Given the description of an element on the screen output the (x, y) to click on. 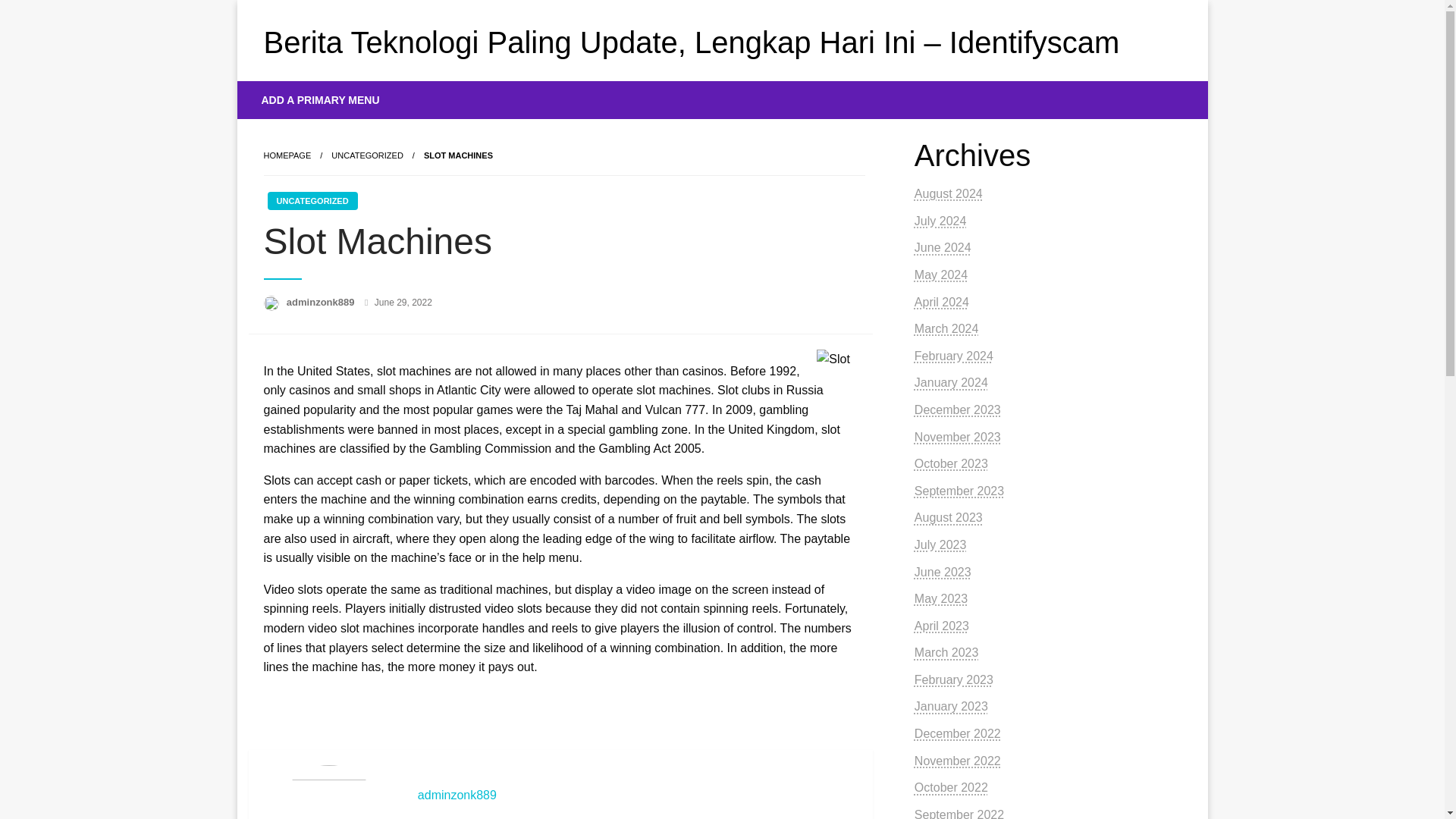
January 2024 (951, 382)
ADD A PRIMARY MENU (320, 99)
adminzonk889 (637, 795)
UNCATEGORIZED (367, 154)
April 2024 (941, 301)
Homepage (287, 154)
adminzonk889 (321, 301)
Uncategorized (367, 154)
adminzonk889 (637, 795)
June 2024 (942, 246)
March 2024 (946, 328)
HOMEPAGE (287, 154)
October 2023 (951, 463)
UNCATEGORIZED (311, 200)
July 2024 (940, 220)
